Given the description of an element on the screen output the (x, y) to click on. 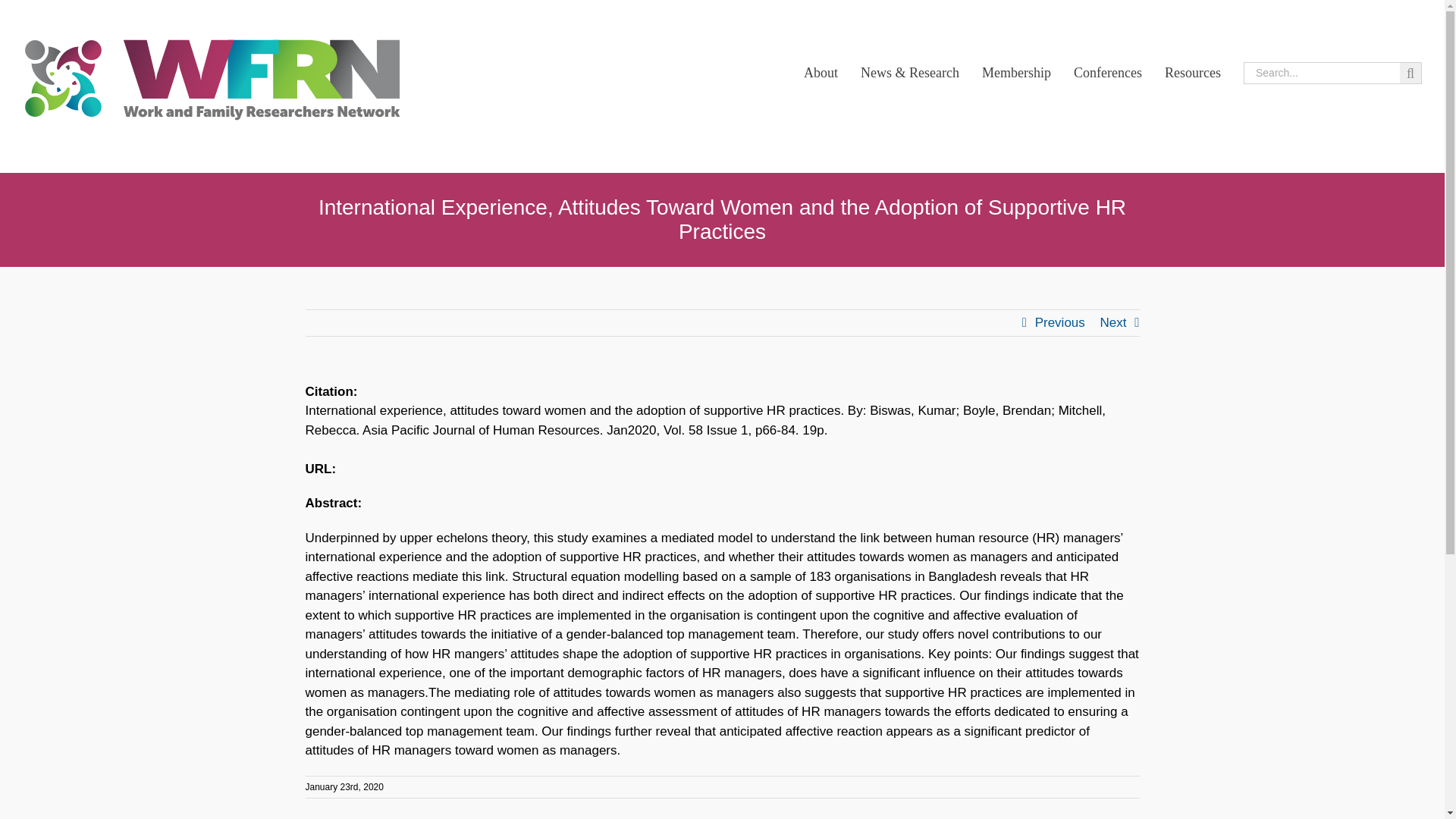
Conferences (1107, 72)
Membership (1016, 72)
